Given the description of an element on the screen output the (x, y) to click on. 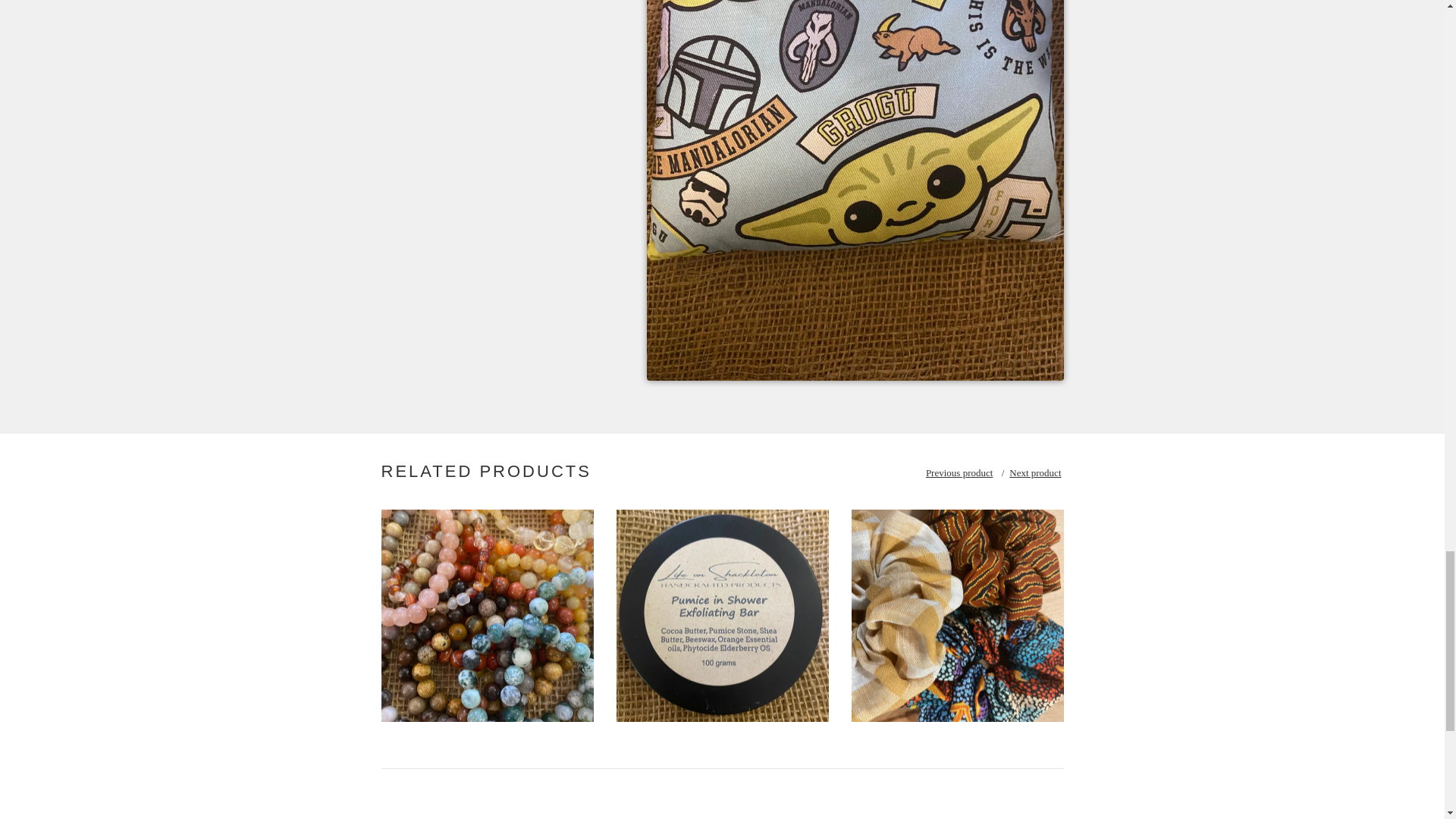
View Previous product (958, 471)
View Stone Bracelets  (486, 615)
Previous product (958, 471)
View Next product (1034, 471)
View Eco Scrunchies (956, 615)
Next product (1034, 471)
View Pumice Exfoliating Bar (721, 615)
